Given the description of an element on the screen output the (x, y) to click on. 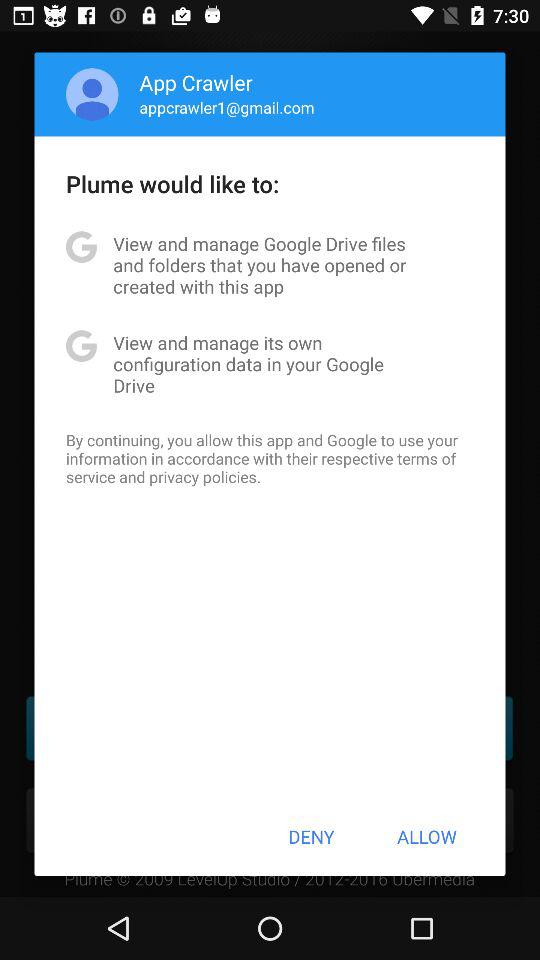
open the deny icon (311, 836)
